Given the description of an element on the screen output the (x, y) to click on. 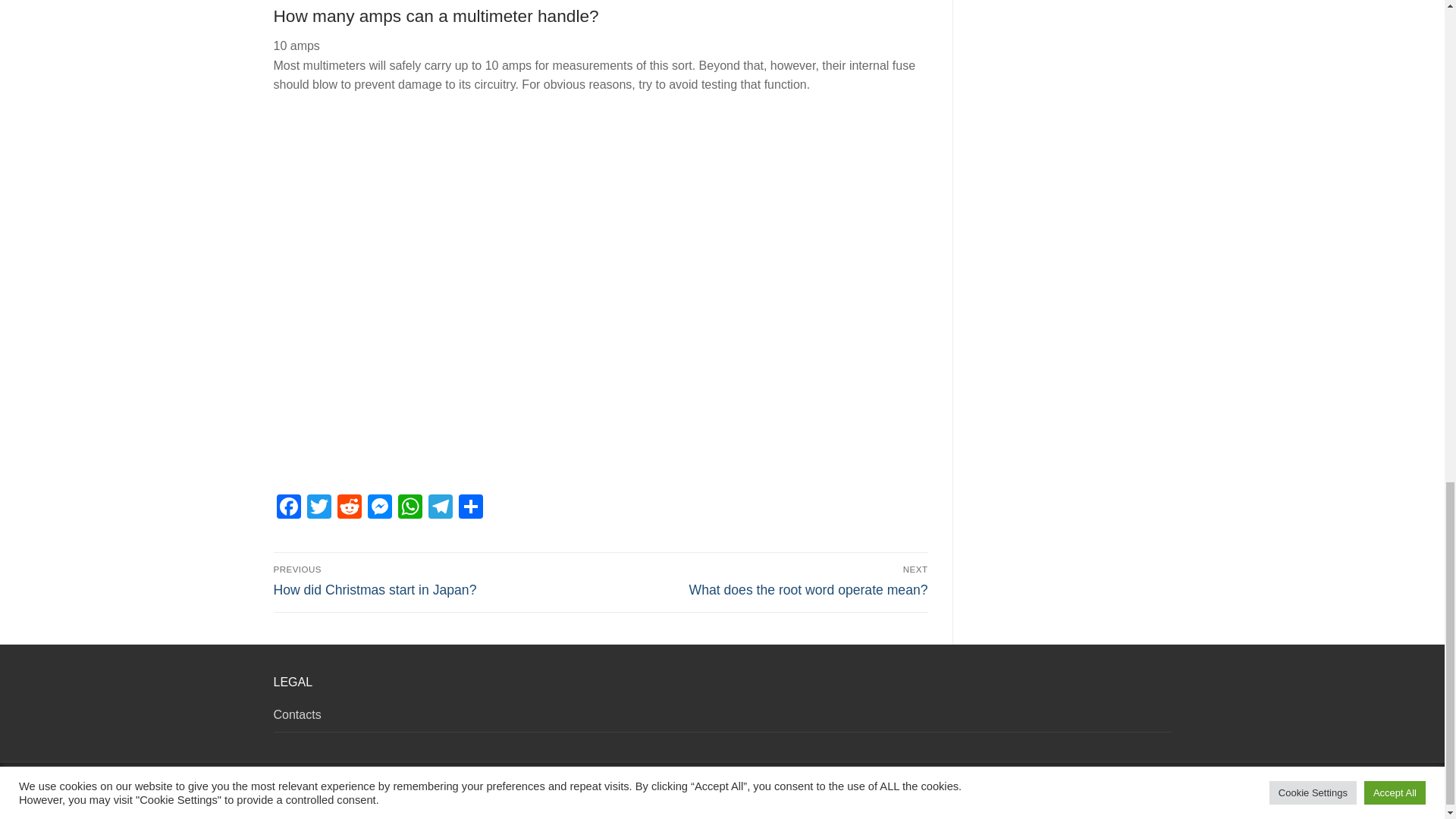
WhatsApp (409, 508)
Messenger (379, 508)
Reddit (348, 508)
Reddit (348, 508)
Telegram (439, 508)
Telegram (439, 508)
Twitter (317, 508)
BSIDE AMD01 Multimeter Review and Teardown (433, 581)
